Given the description of an element on the screen output the (x, y) to click on. 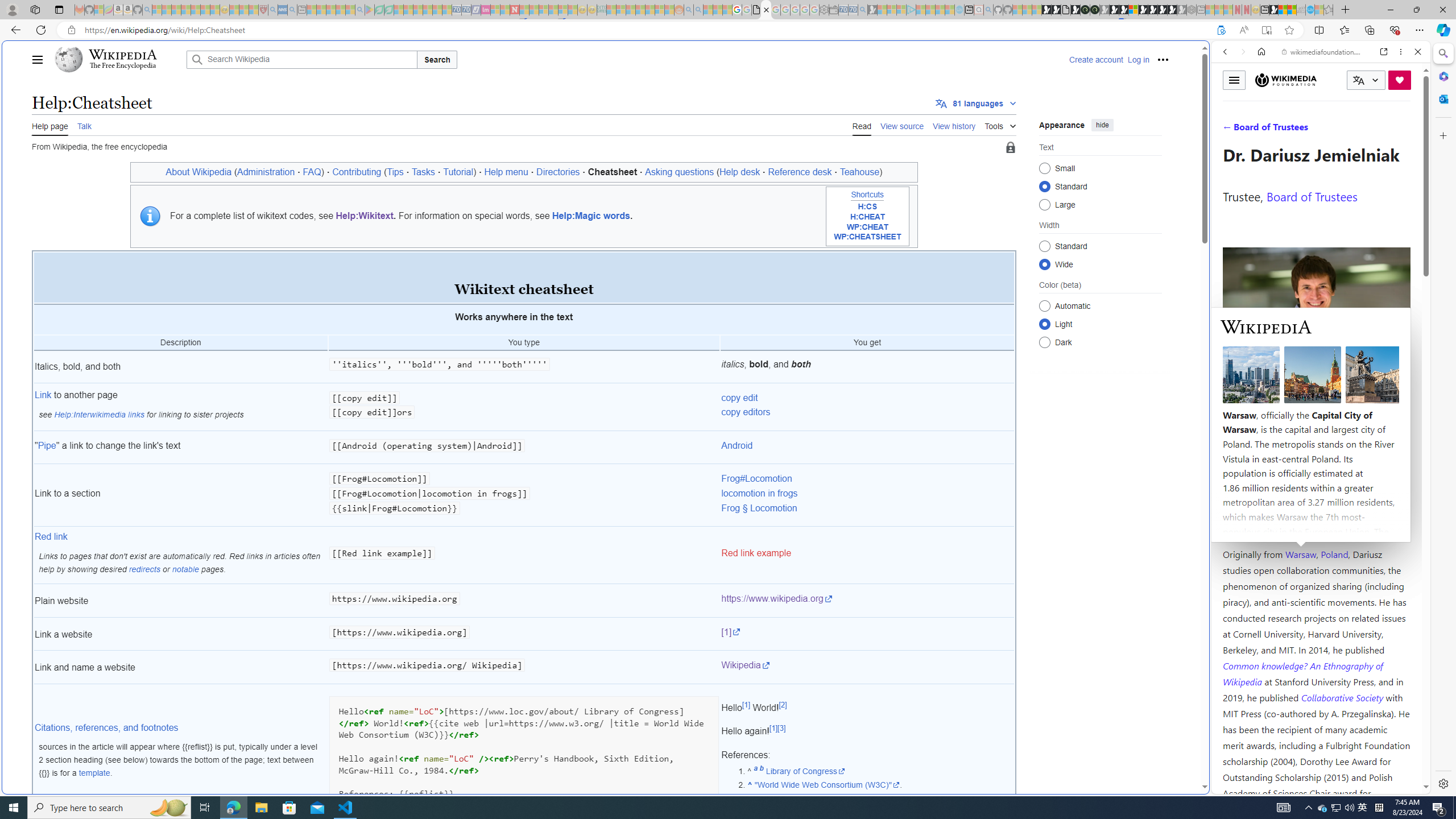
Red link example (756, 552)
Board of Trustees (1311, 195)
Link to a section (180, 495)
Create account (1095, 58)
WP:CHEAT (867, 226)
CURRENT LANGUAGE: (1366, 80)
You get (866, 343)
Automatic (1044, 305)
google_privacy_policy_zh-CN.pdf (755, 9)
